Given the description of an element on the screen output the (x, y) to click on. 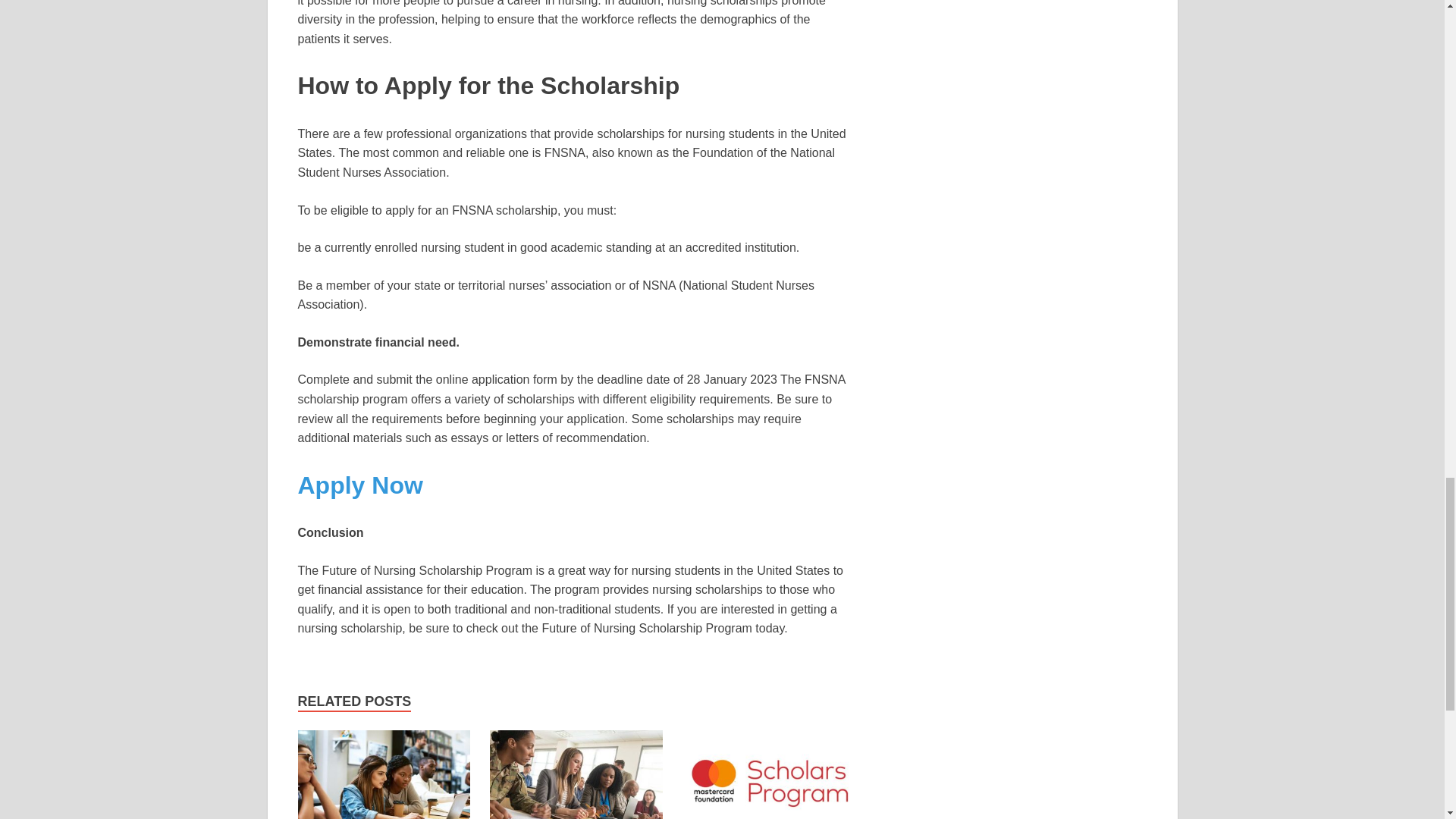
Apply Now (359, 484)
